Given the description of an element on the screen output the (x, y) to click on. 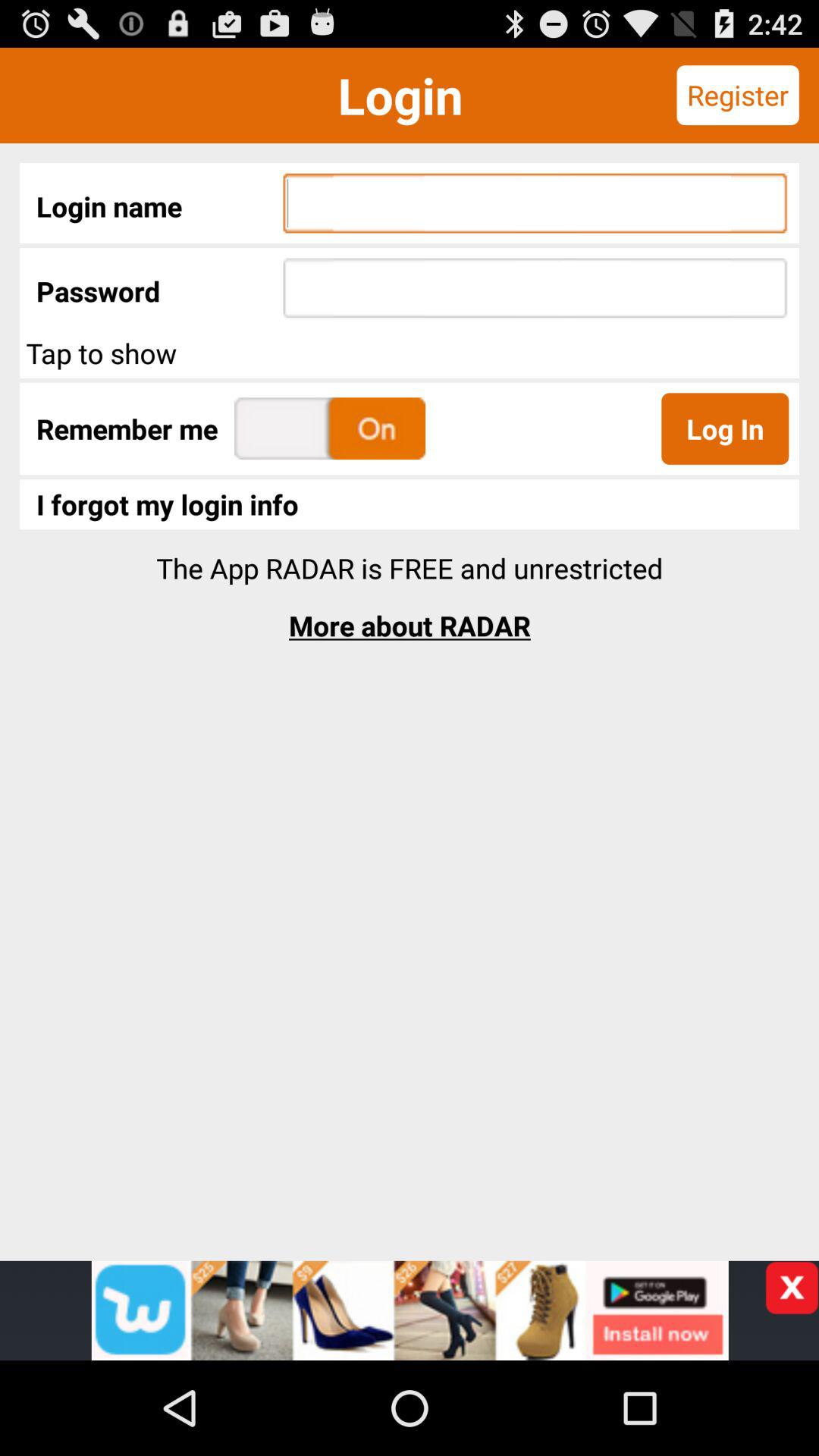
toggle remember me option (329, 428)
